Given the description of an element on the screen output the (x, y) to click on. 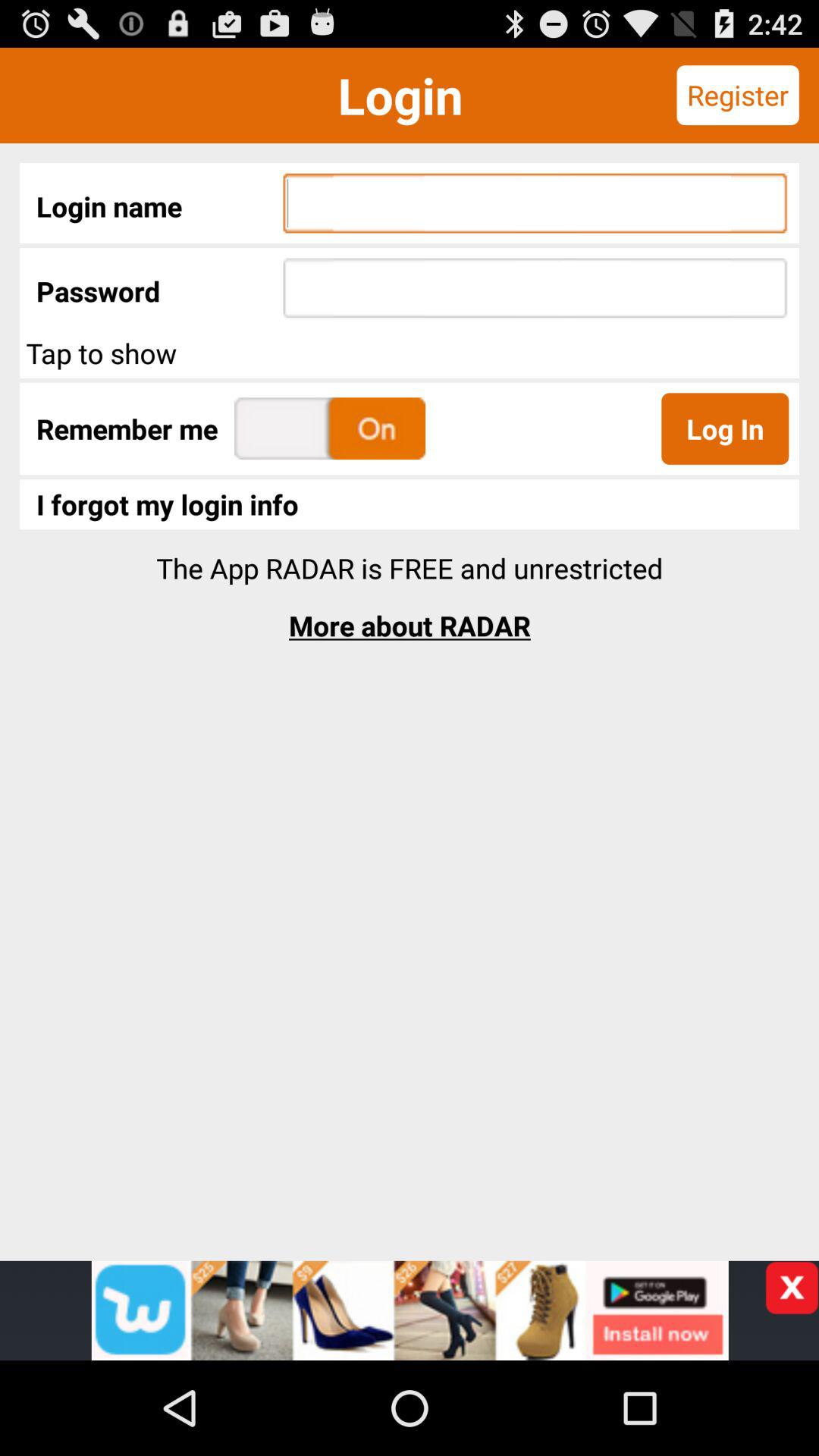
toggle remember me option (329, 428)
